Given the description of an element on the screen output the (x, y) to click on. 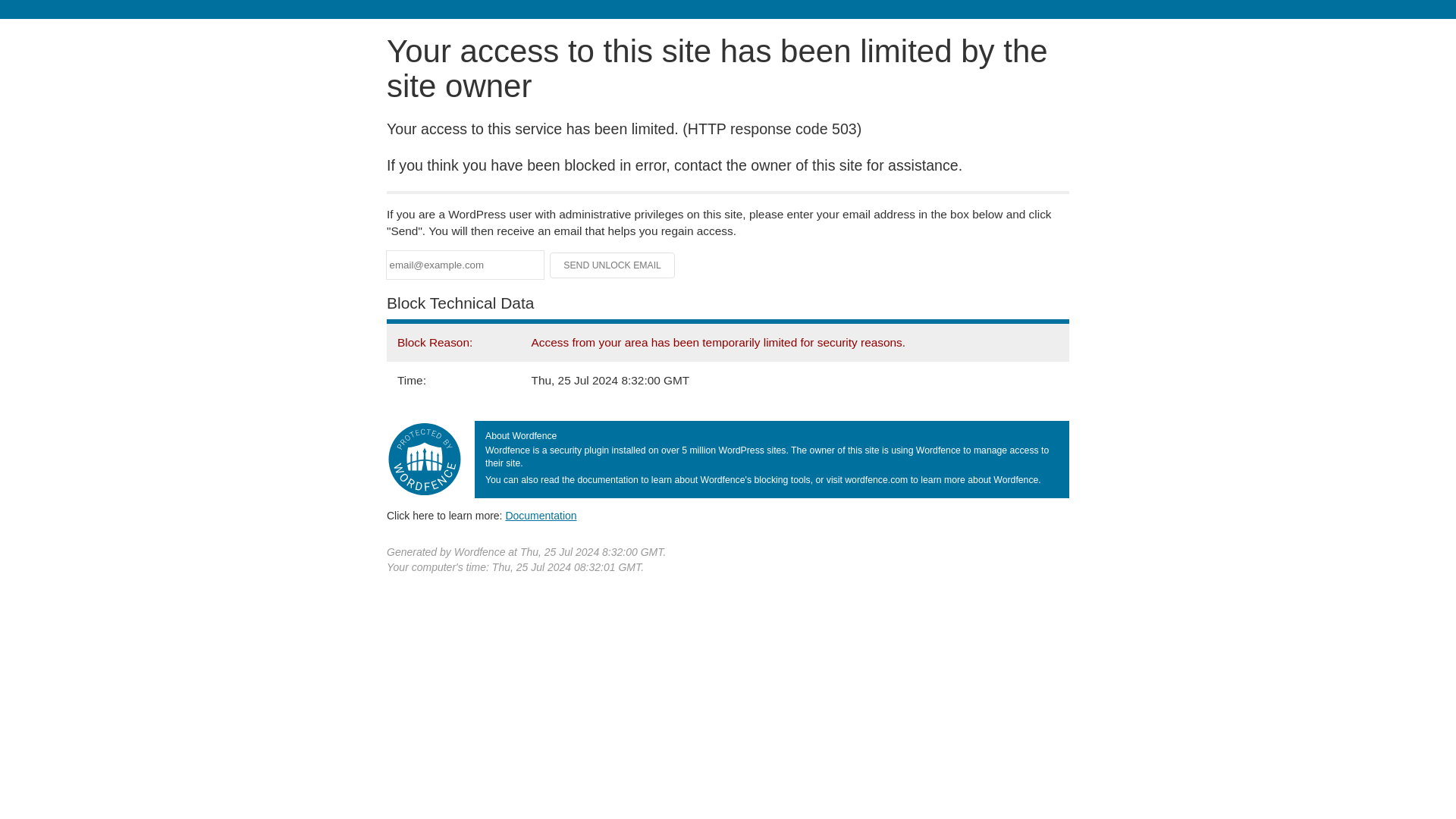
Send Unlock Email (612, 265)
Send Unlock Email (612, 265)
Documentation (540, 515)
